Given the description of an element on the screen output the (x, y) to click on. 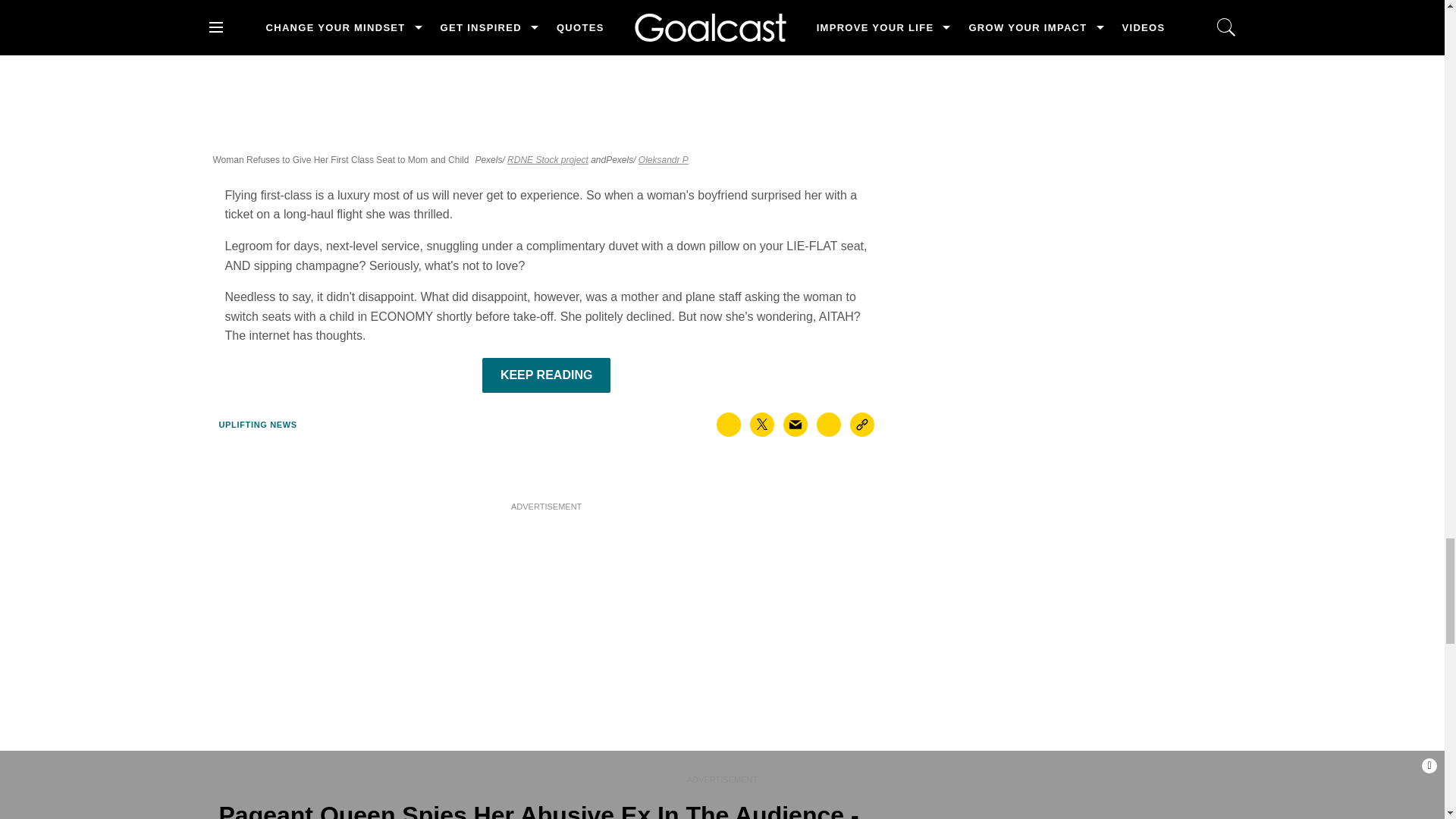
Copy this link to clipboard (862, 424)
